Given the description of an element on the screen output the (x, y) to click on. 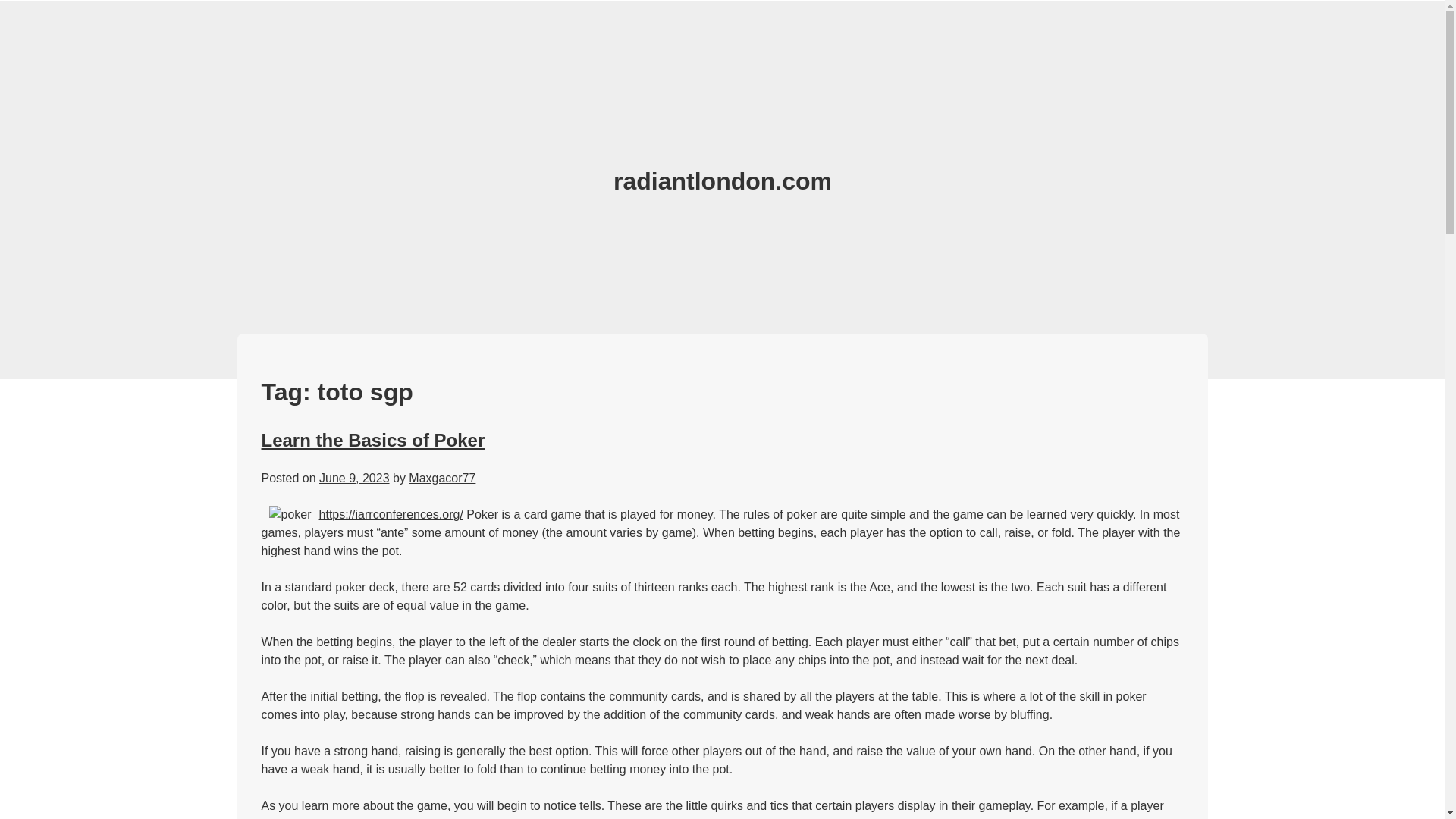
Learn the Basics of Poker (372, 439)
June 9, 2023 (354, 477)
Maxgacor77 (442, 477)
